Given the description of an element on the screen output the (x, y) to click on. 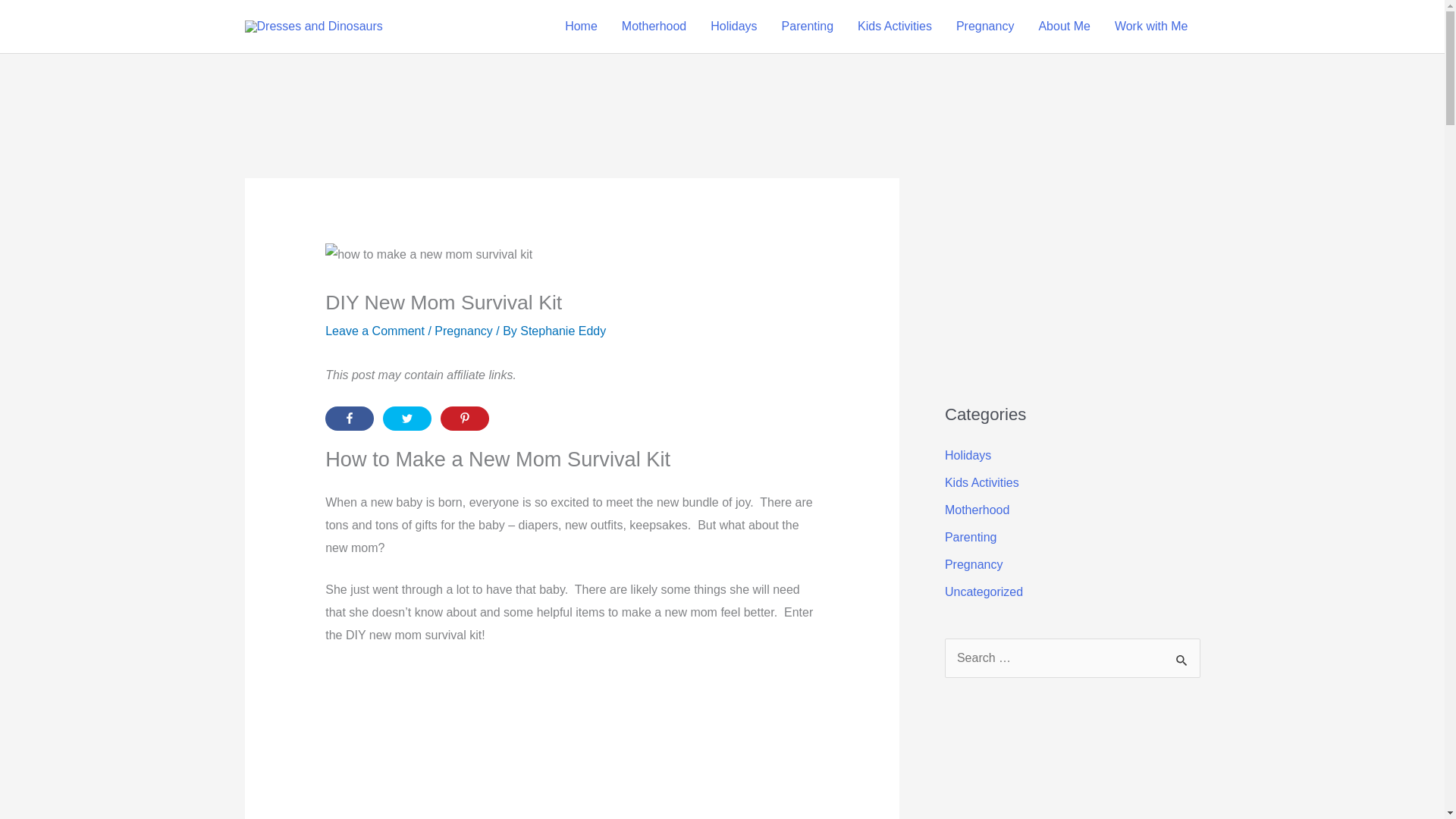
Share on Twitter (406, 418)
Pregnancy (984, 26)
Holidays (733, 26)
Work with Me (1150, 26)
Home (581, 26)
Pregnancy (463, 330)
Leave a Comment (374, 330)
Share on Facebook (349, 418)
Stephanie Eddy (562, 330)
Share on Pinterest (465, 418)
